Given the description of an element on the screen output the (x, y) to click on. 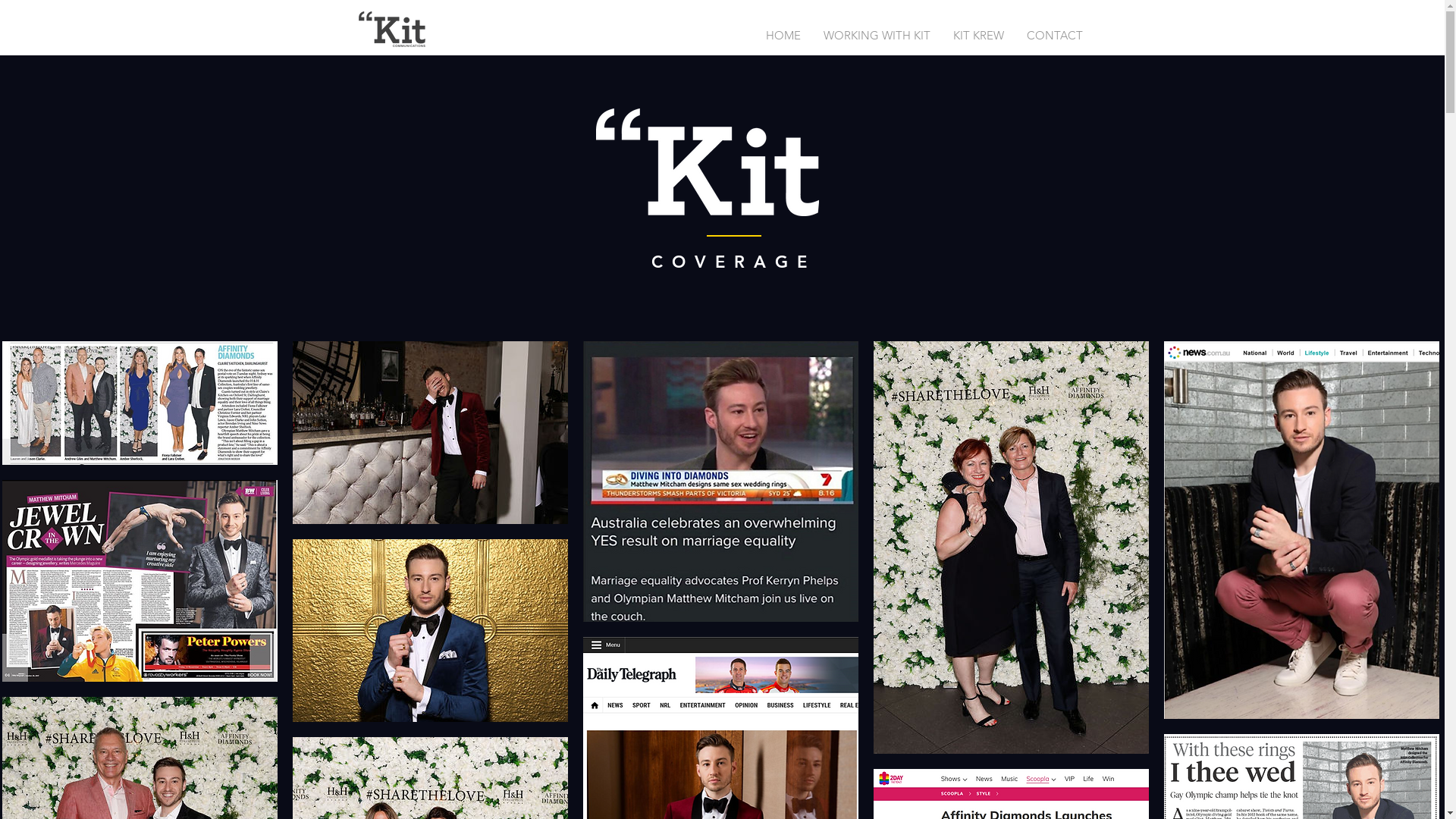
WORKING WITH KIT Element type: text (876, 35)
KIT KREW Element type: text (978, 35)
CONTACT Element type: text (1053, 35)
HOME Element type: text (782, 35)
